Given the description of an element on the screen output the (x, y) to click on. 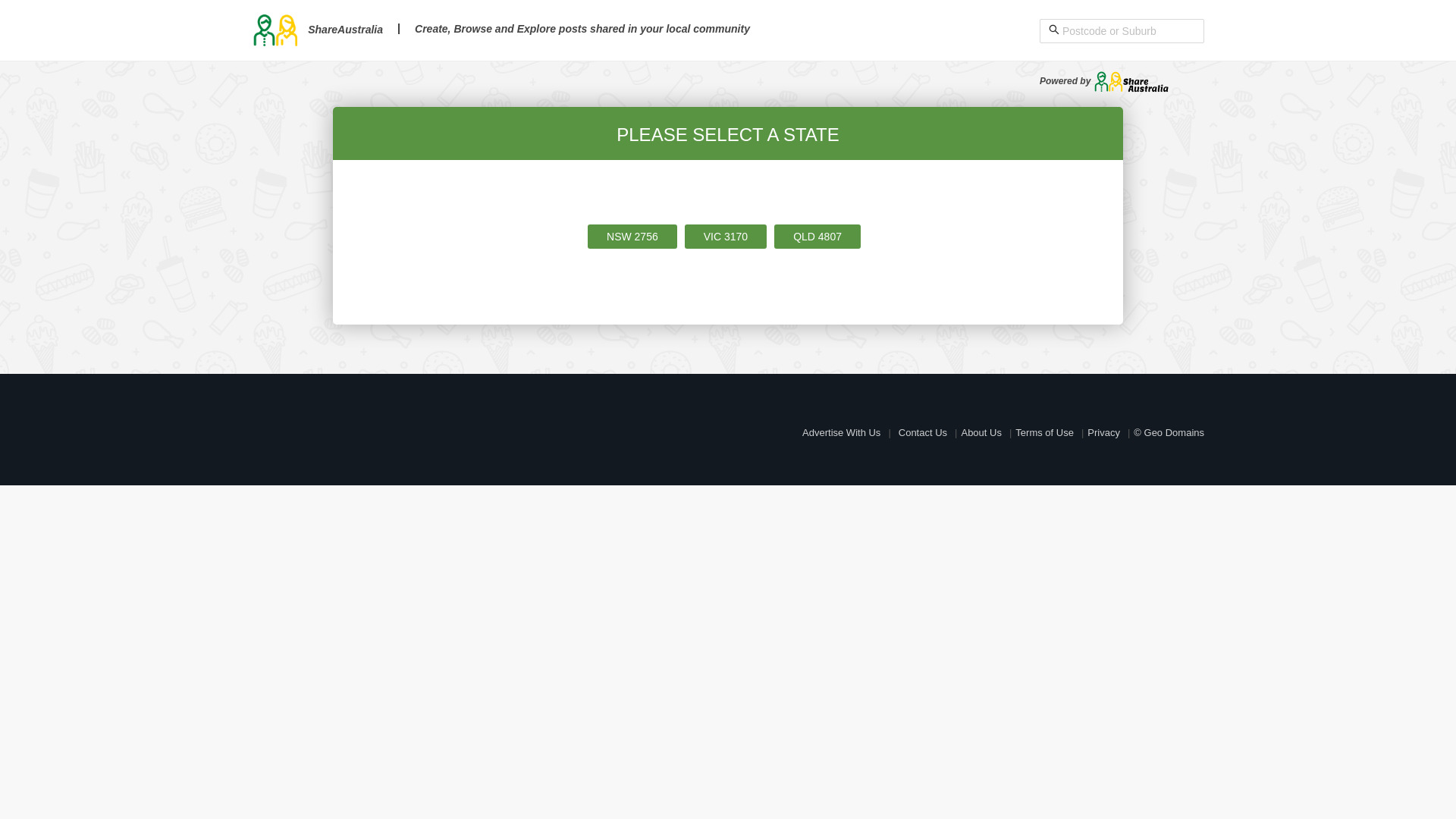
Advertise With Us Element type: text (841, 432)
ShareAustralia Element type: text (316, 29)
Powered by Element type: text (1104, 80)
Privacy Element type: text (1103, 432)
QLD 4807 Element type: text (817, 236)
NSW 2756 Element type: text (632, 236)
Contact Us Element type: text (922, 432)
Terms of Use Element type: text (1044, 432)
VIC 3170 Element type: text (725, 236)
About Us Element type: text (980, 432)
